Given the description of an element on the screen output the (x, y) to click on. 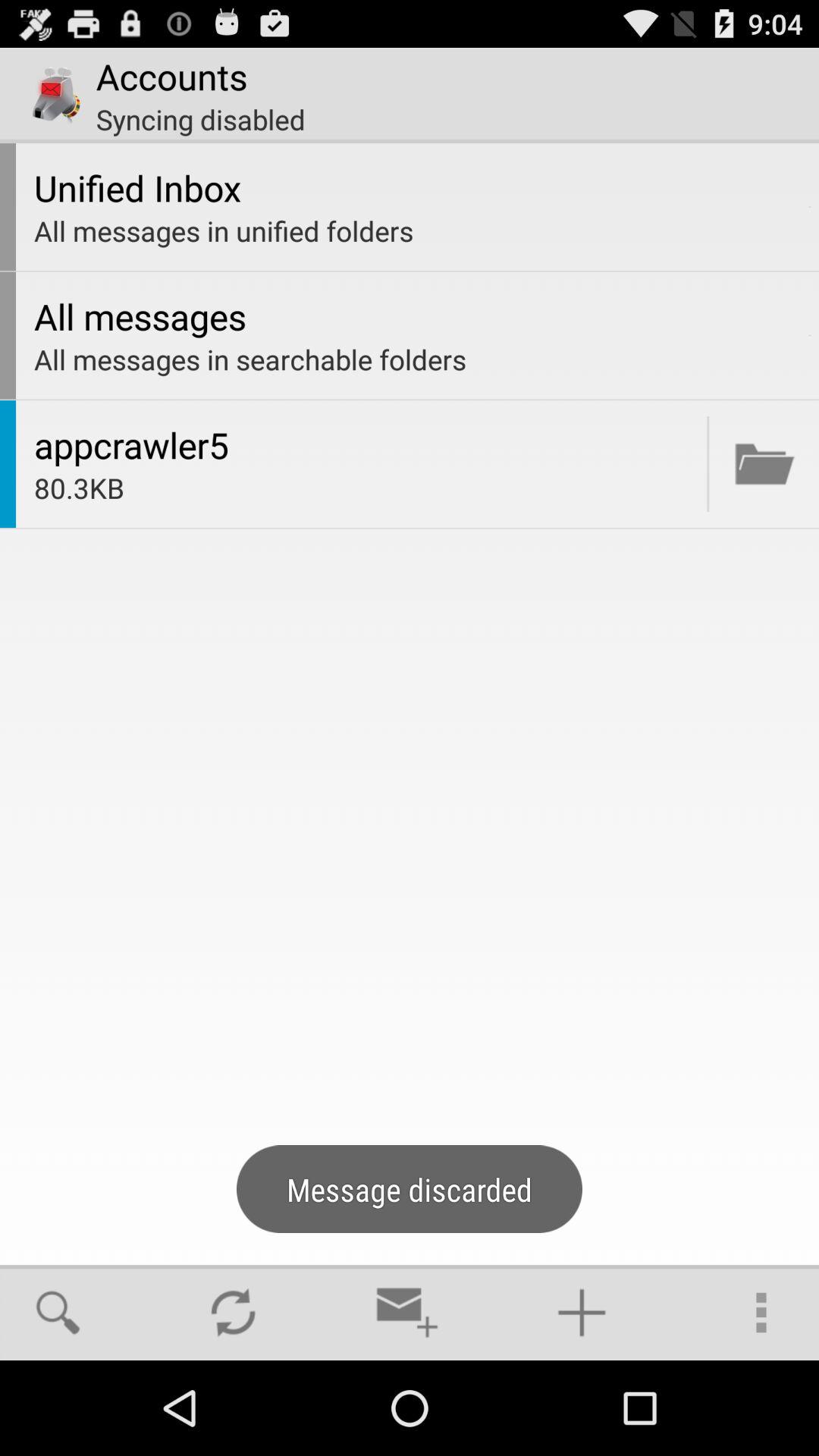
message discarded (764, 463)
